Given the description of an element on the screen output the (x, y) to click on. 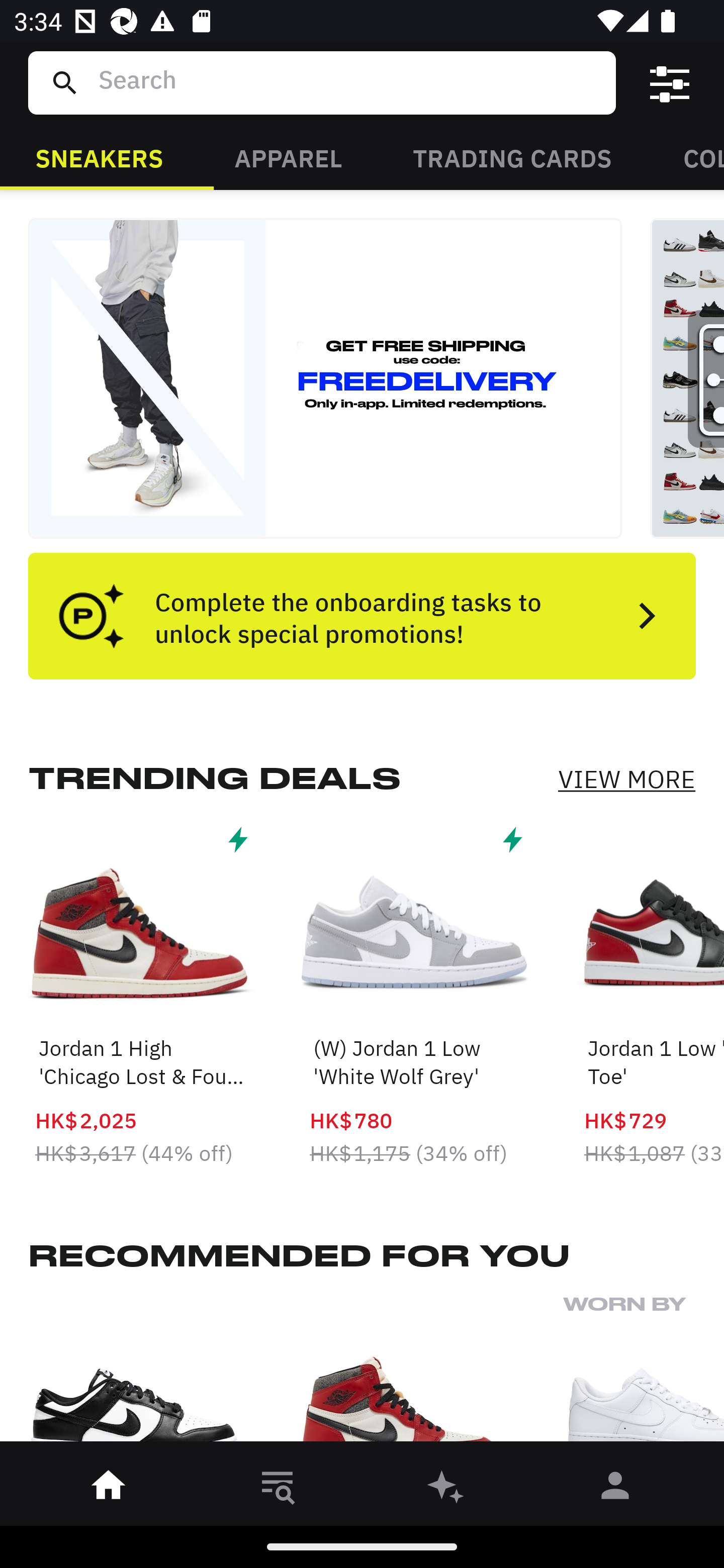
Search (349, 82)
 (669, 82)
SNEAKERS (99, 156)
APPAREL (287, 156)
TRADING CARDS (512, 156)
VIEW MORE (626, 779)
ASAP ROCKY (643, 1373)
󰋜 (108, 1488)
󱎸 (277, 1488)
󰫢 (446, 1488)
󰀄 (615, 1488)
